Given the description of an element on the screen output the (x, y) to click on. 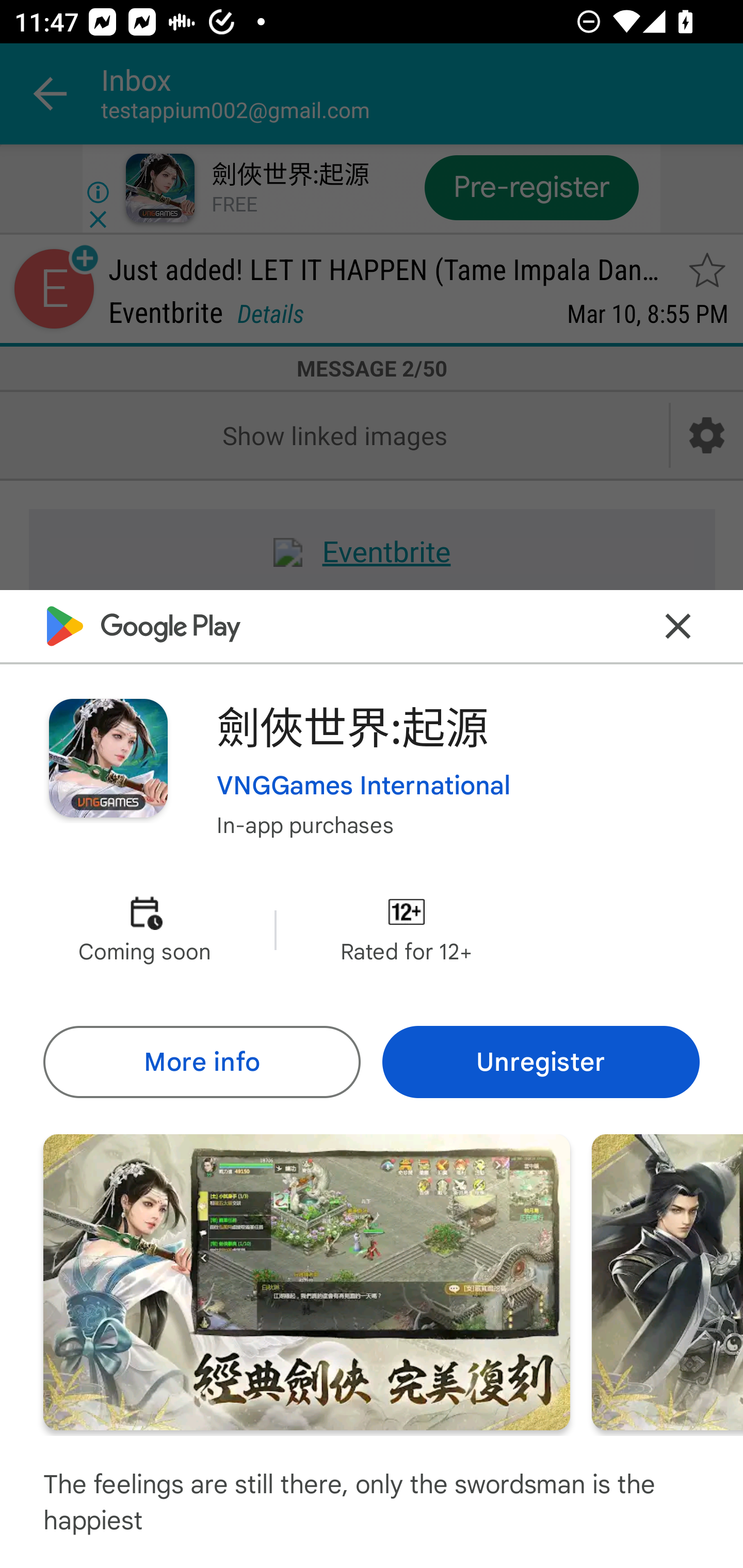
Close (677, 625)
Image of app or game icon for 劍俠世界:起源 (108, 758)
VNGGames International (363, 784)
More info (201, 1061)
Unregister (540, 1061)
Screenshot "1" of "5" (306, 1281)
